Given the description of an element on the screen output the (x, y) to click on. 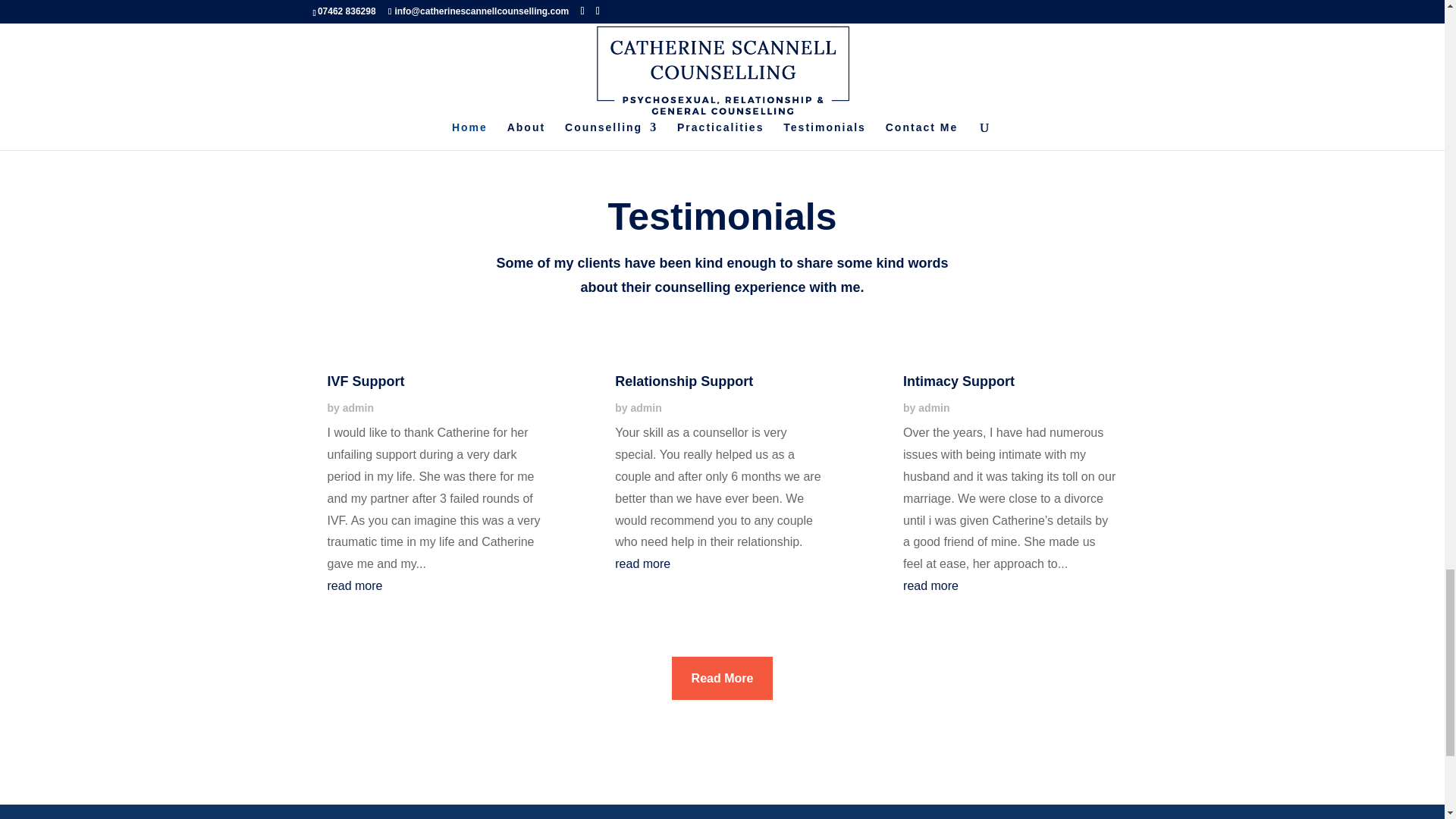
admin (358, 408)
admin (646, 408)
Posts by admin (646, 408)
Posts by admin (933, 408)
Read More (722, 678)
Relationship Support (683, 381)
read more (641, 563)
Posts by admin (358, 408)
admin (933, 408)
read more (354, 585)
read more (930, 585)
Intimacy Support (958, 381)
IVF Support (365, 381)
